Given the description of an element on the screen output the (x, y) to click on. 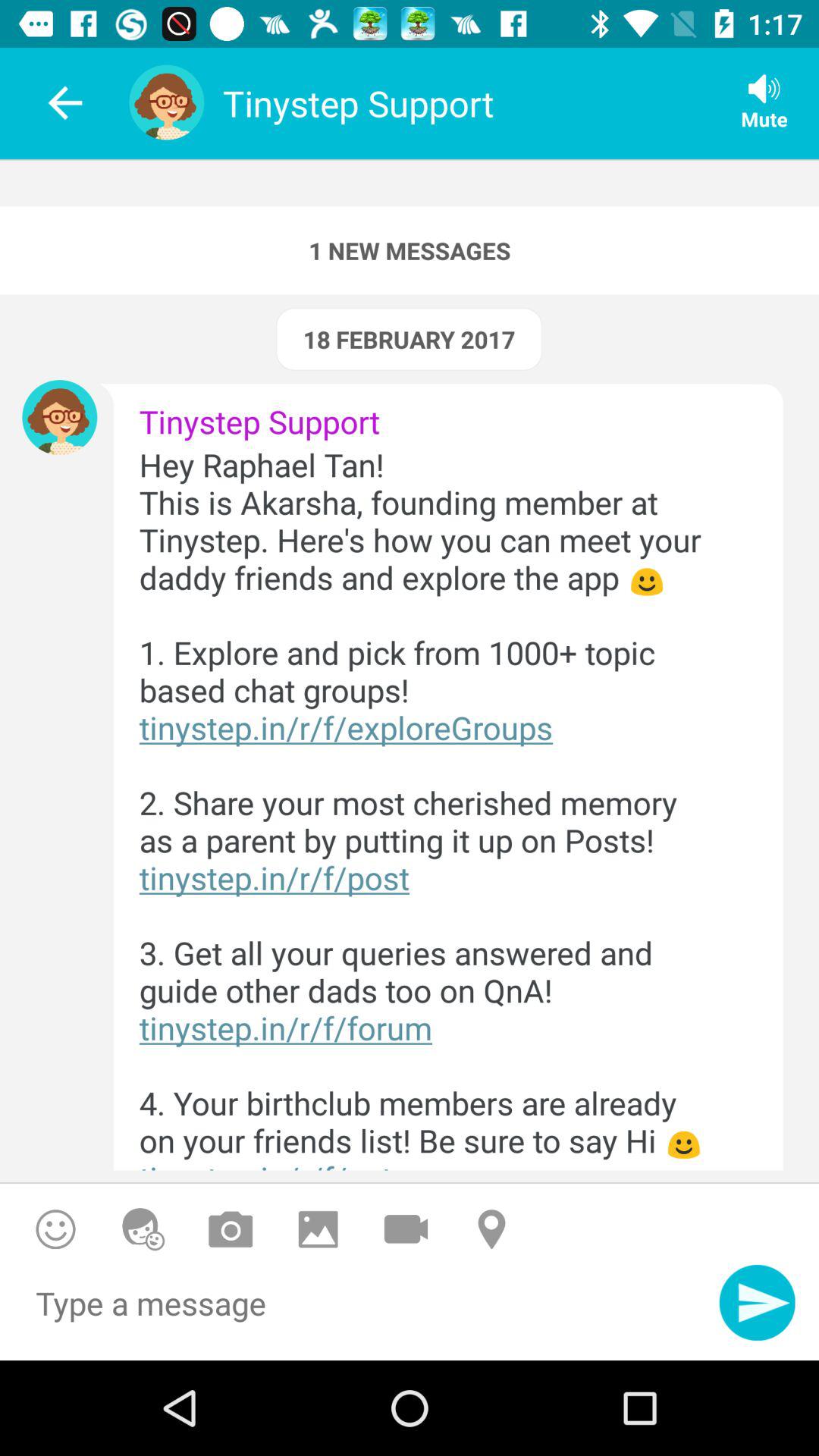
view profile of person (59, 417)
